Given the description of an element on the screen output the (x, y) to click on. 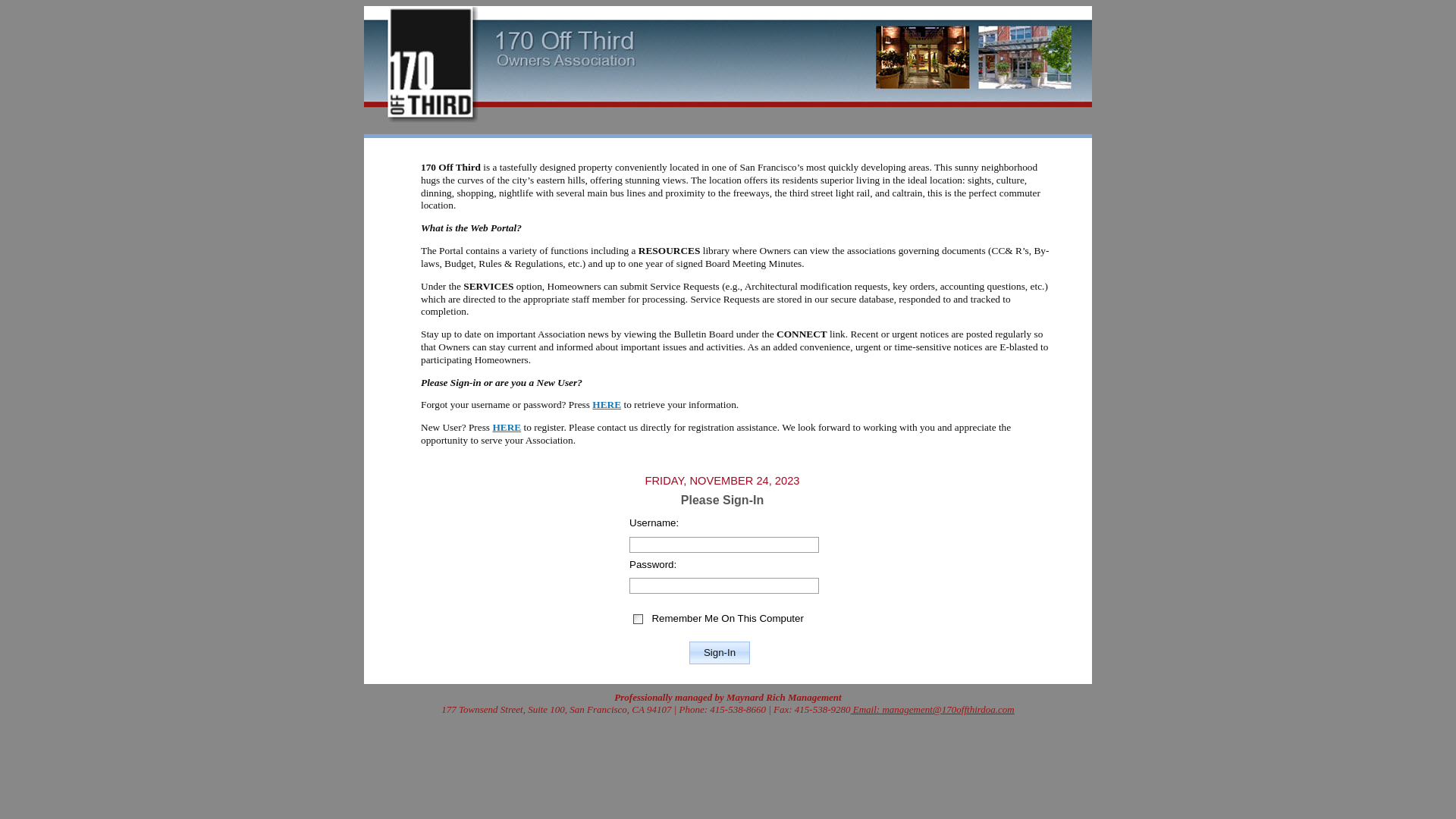
Email: management@170offthirdoa.com Element type: text (932, 709)
HERE Element type: text (506, 427)
HERE Element type: text (606, 404)
